Given the description of an element on the screen output the (x, y) to click on. 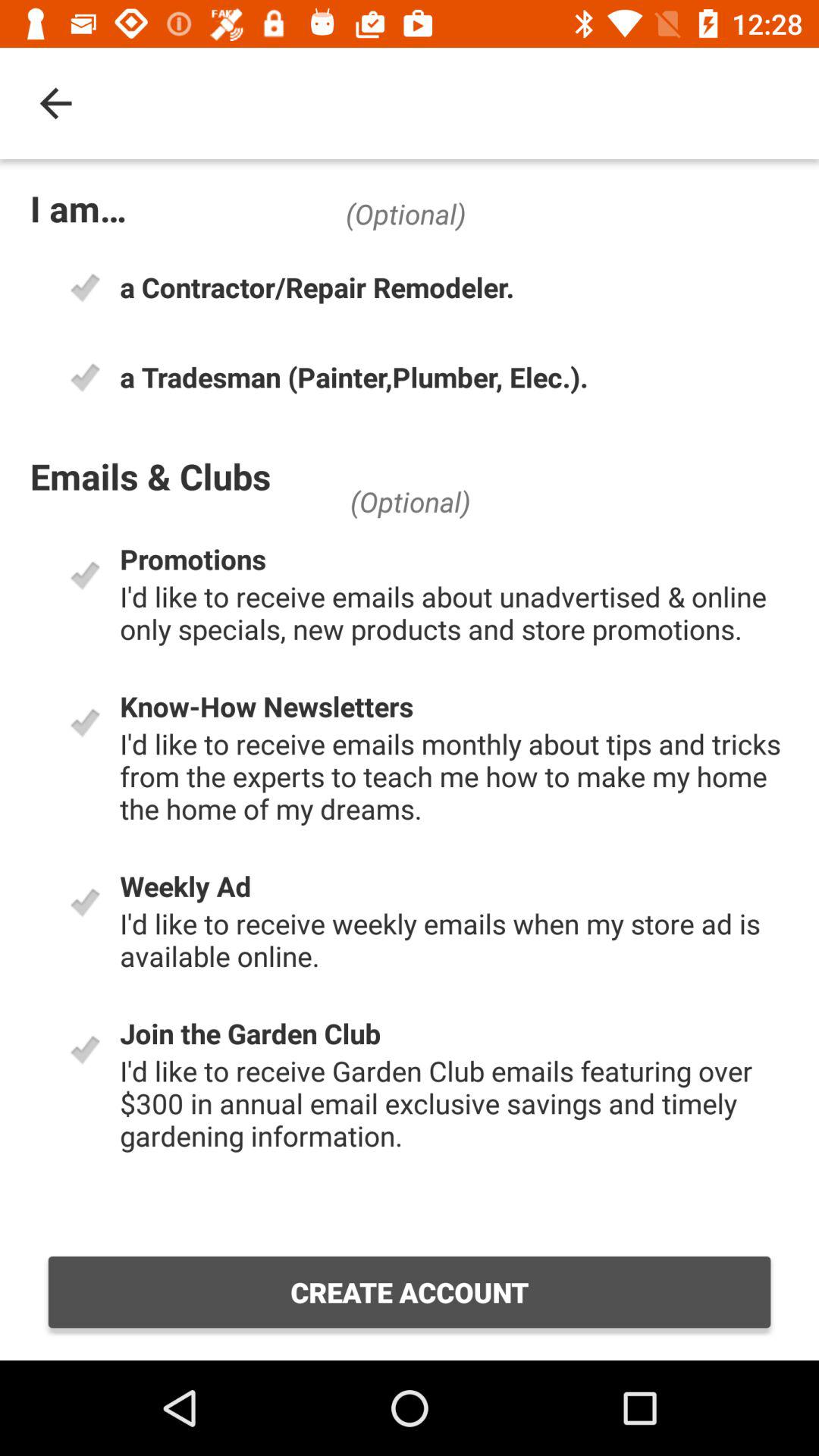
choose create account (409, 1291)
